Given the description of an element on the screen output the (x, y) to click on. 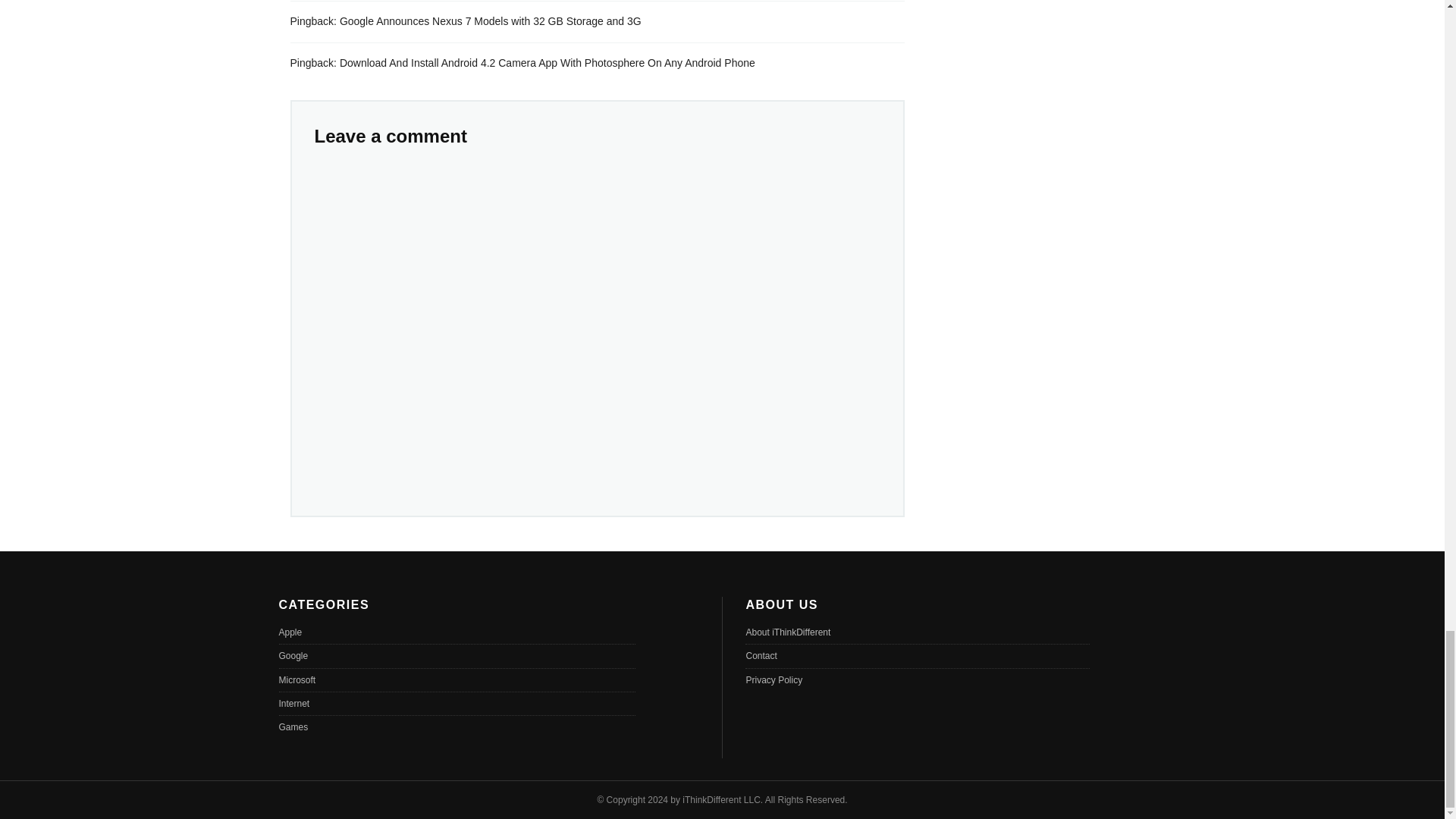
iThinkDifferent - Apple News, Reviews, and Guides (711, 799)
